Given the description of an element on the screen output the (x, y) to click on. 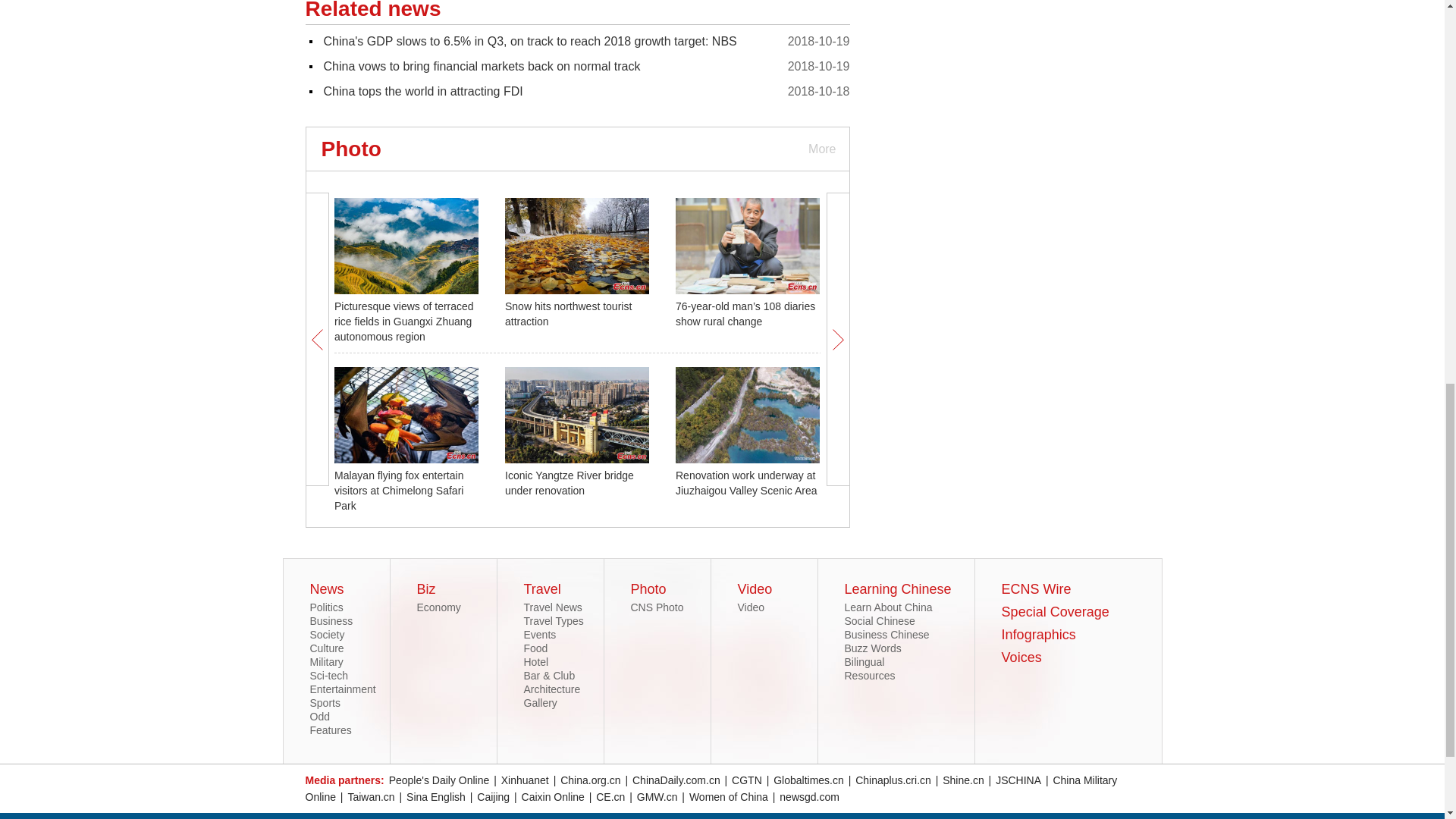
China tops the world in attracting FDI (422, 91)
China vows to bring financial markets back on normal track (481, 65)
Iconic Yangtze River bridge under renovation (569, 482)
Snow hits northwest tourist attraction (568, 313)
